Given the description of an element on the screen output the (x, y) to click on. 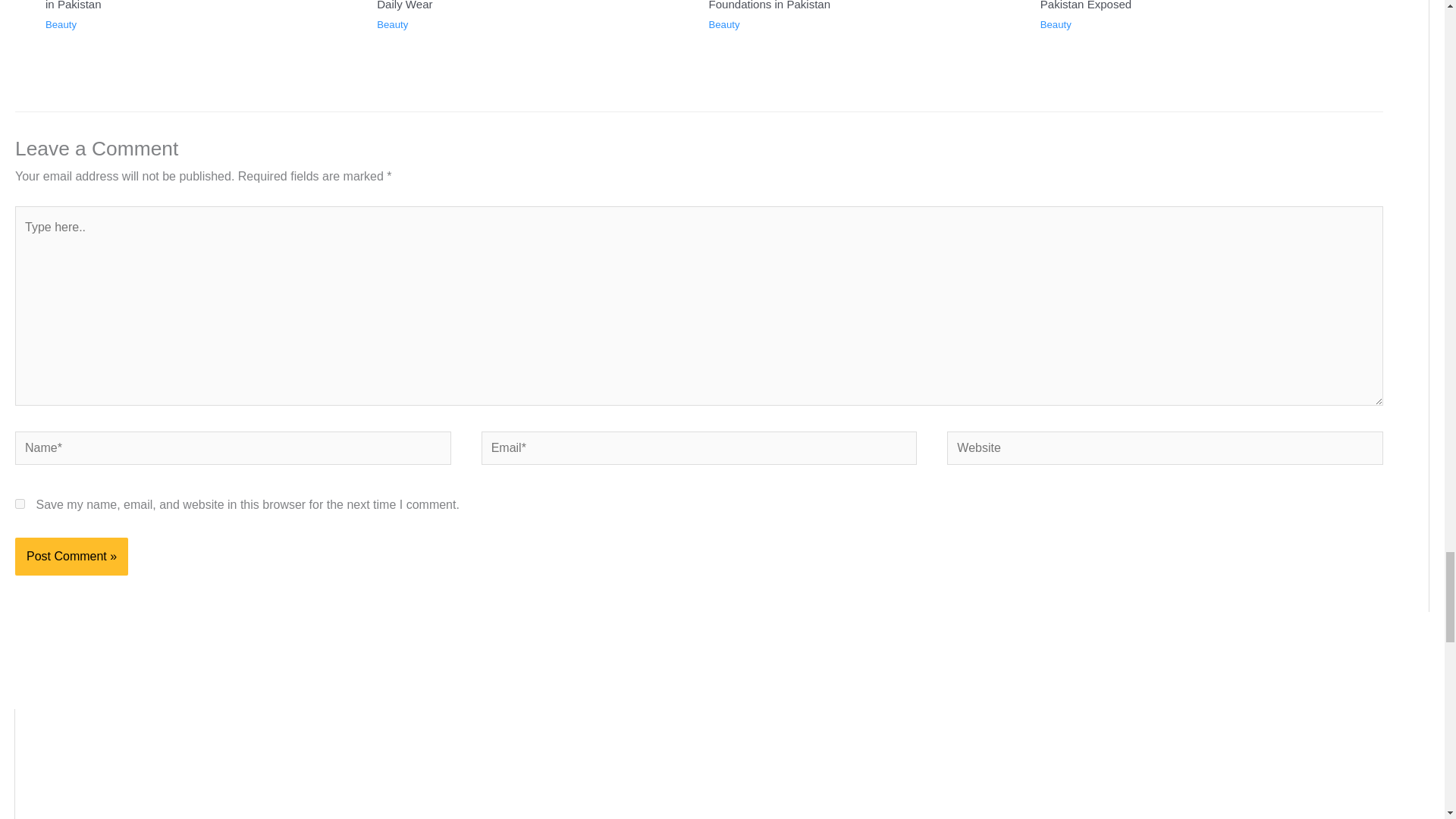
yes (19, 503)
